Given the description of an element on the screen output the (x, y) to click on. 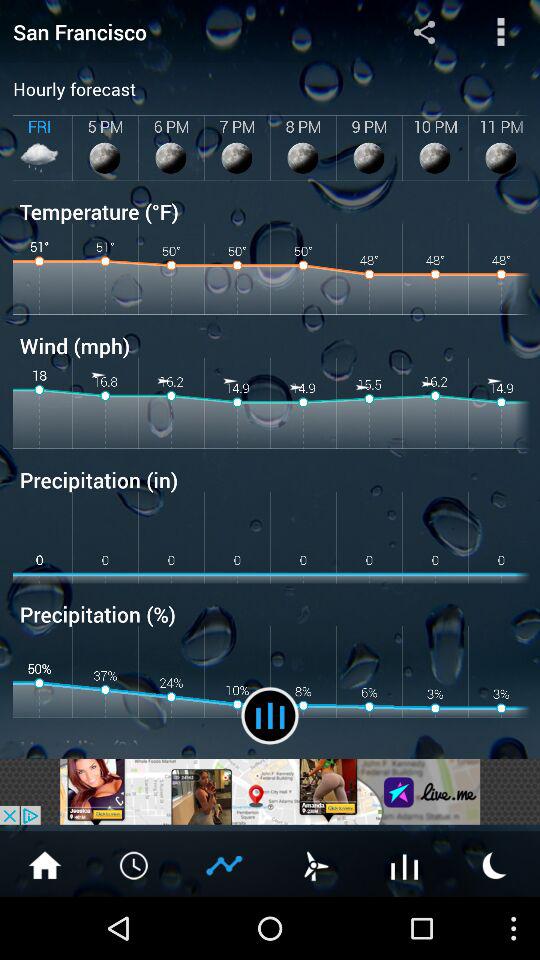
share weather details (225, 864)
